Given the description of an element on the screen output the (x, y) to click on. 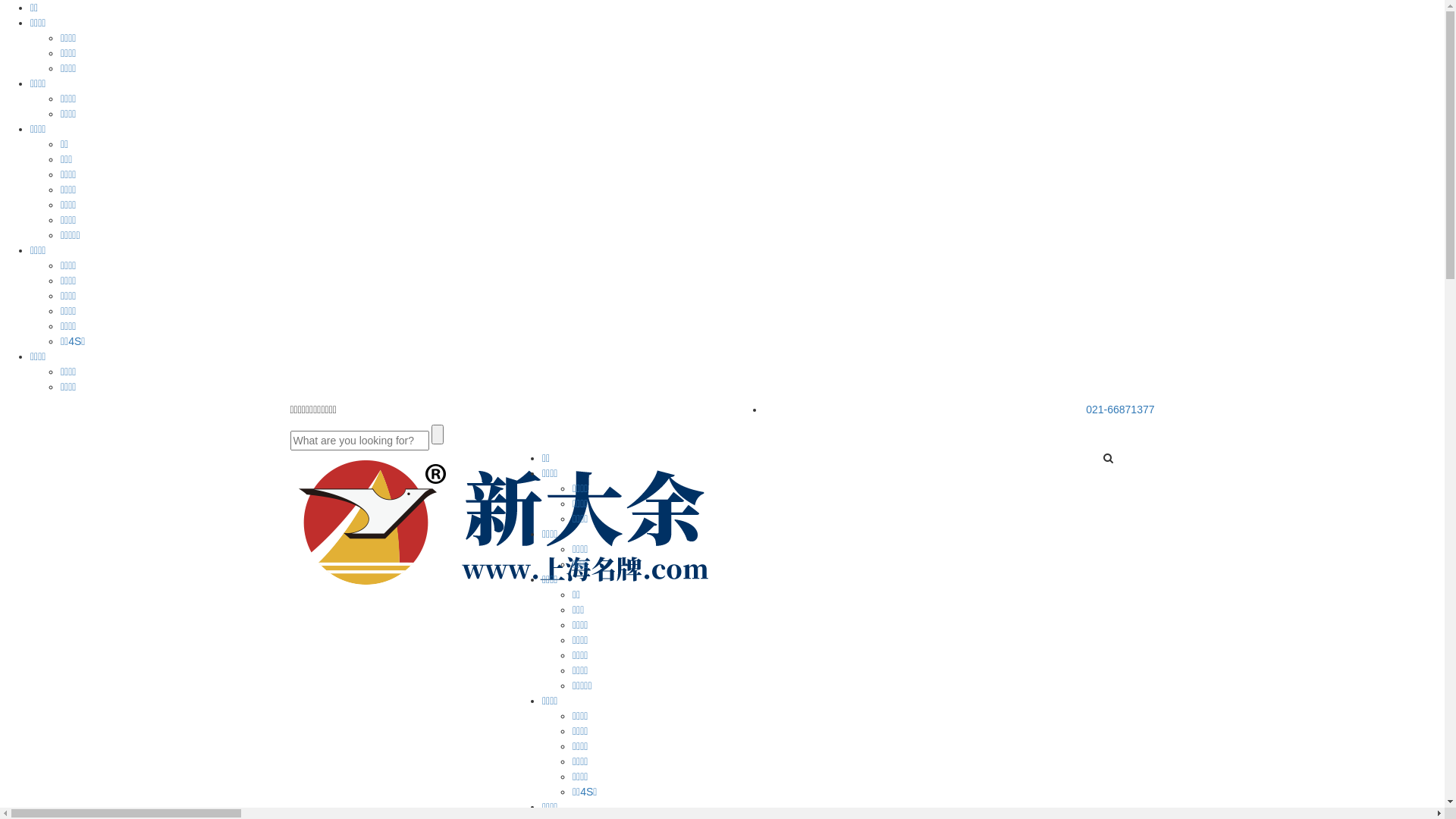
021-66871377 Element type: text (1119, 409)
